Given the description of an element on the screen output the (x, y) to click on. 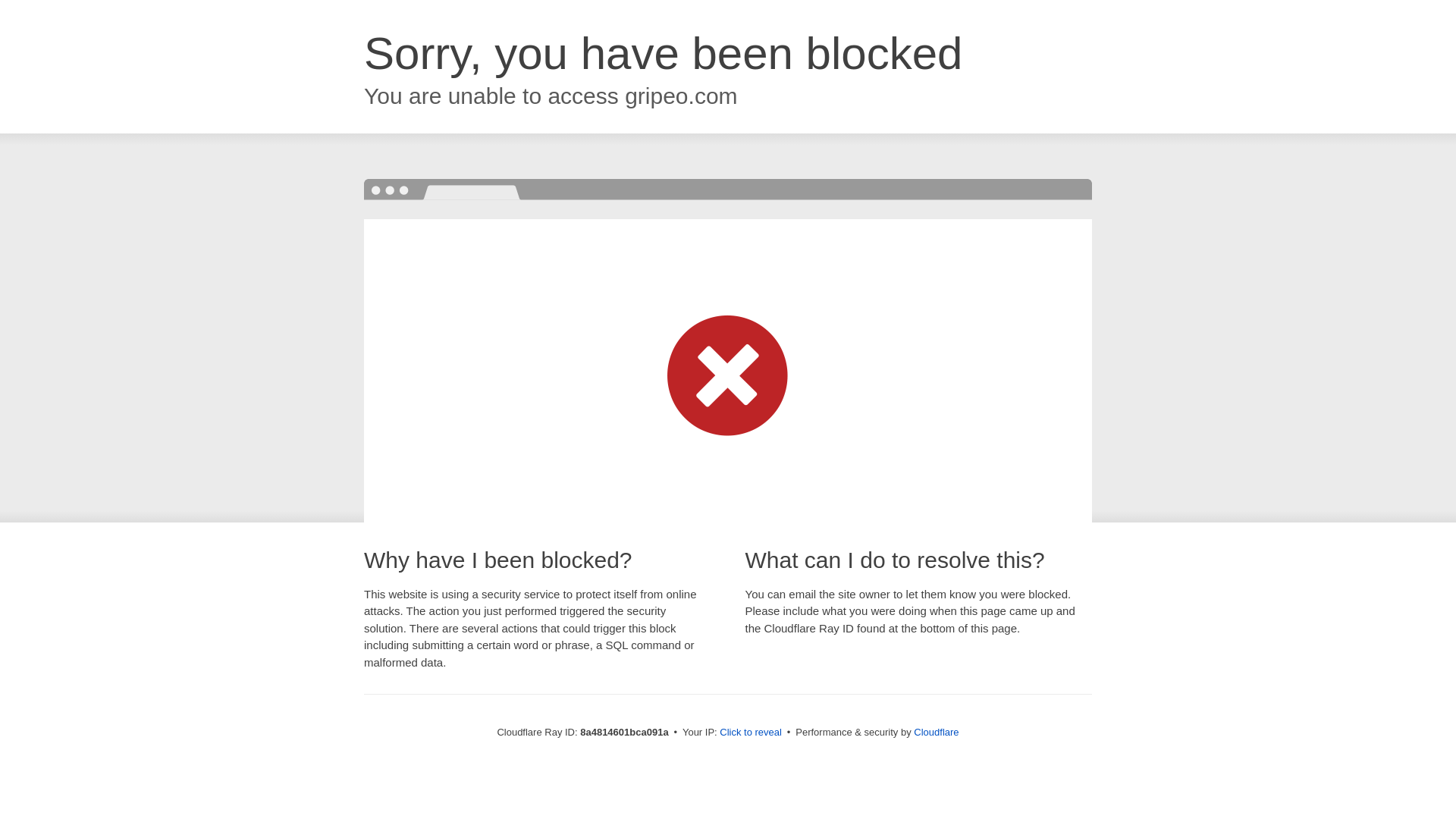
Cloudflare (936, 731)
Click to reveal (750, 732)
